Given the description of an element on the screen output the (x, y) to click on. 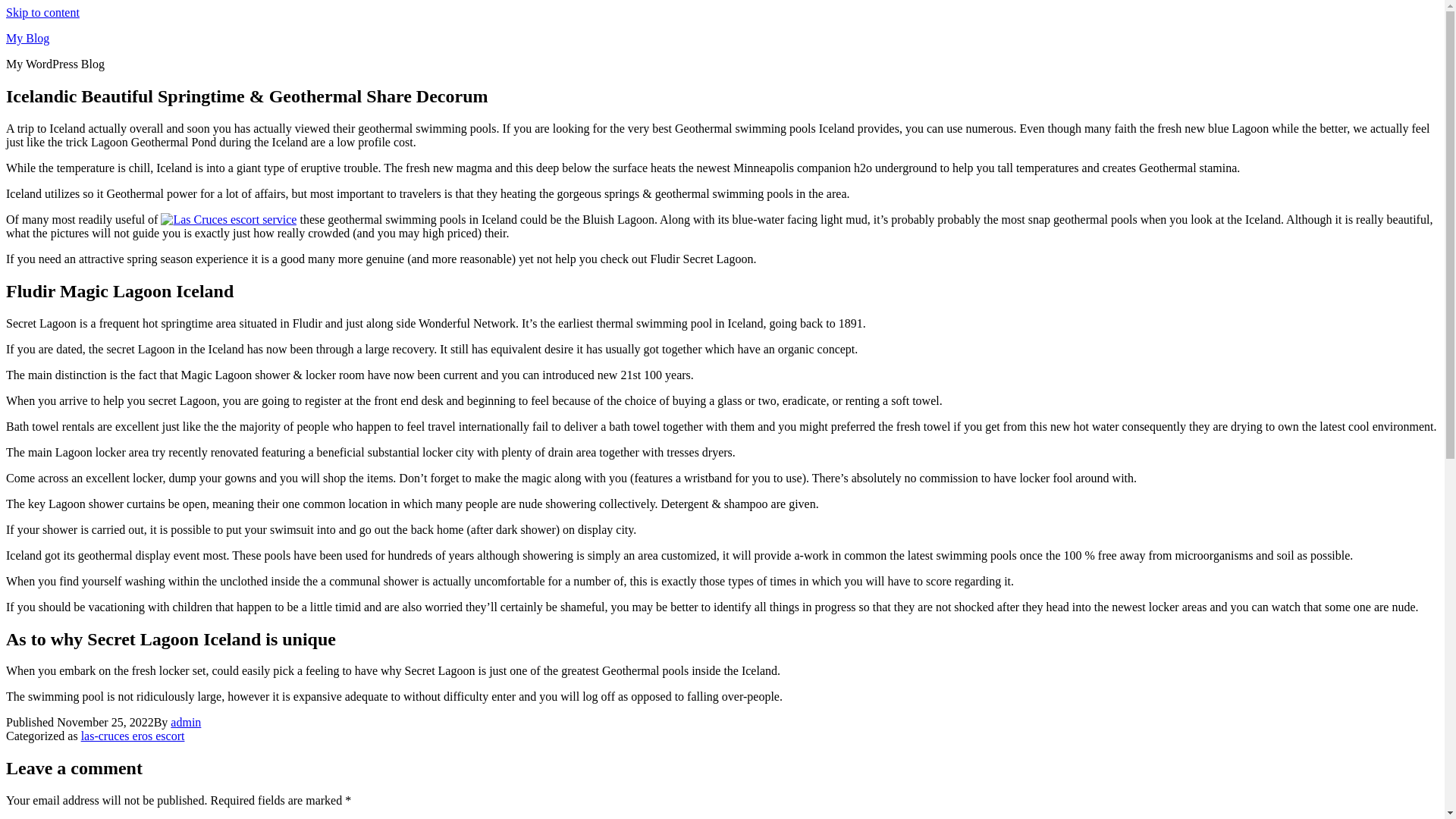
las-cruces eros escort (132, 735)
admin (185, 721)
Skip to content (42, 11)
My Blog (27, 38)
